Given the description of an element on the screen output the (x, y) to click on. 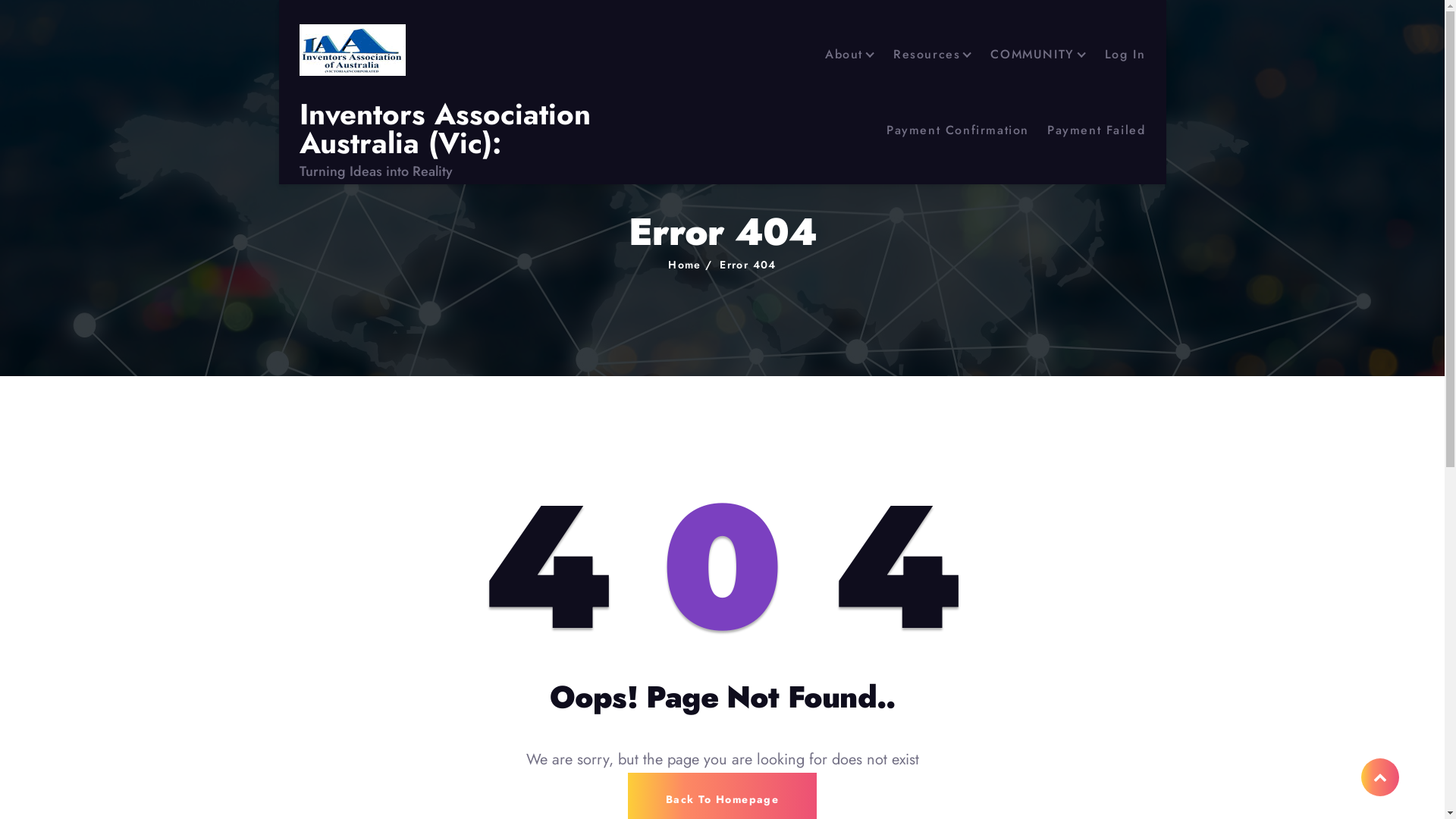
Error 404 Element type: text (747, 264)
Inventors Association Australia (Vic): Element type: text (475, 129)
Payment Failed Element type: text (1096, 129)
Home Element type: text (684, 264)
Resources Element type: text (932, 54)
Payment Confirmation Element type: text (957, 129)
About Element type: text (850, 54)
Log In Element type: text (1124, 54)
COMMUNITY Element type: text (1037, 54)
